Given the description of an element on the screen output the (x, y) to click on. 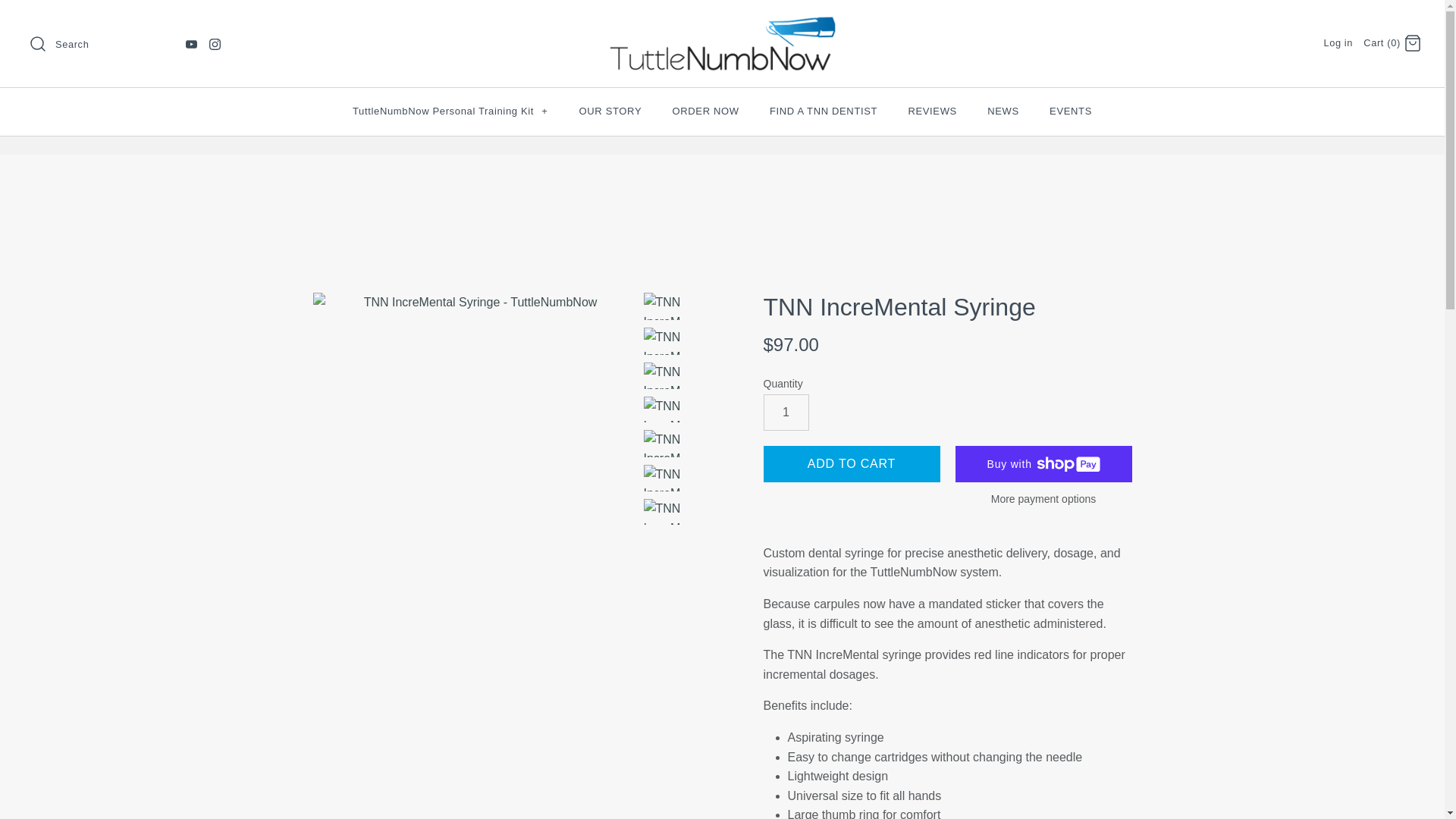
TNN IncreMental Syringe - TuttleNumbNow (662, 340)
TNN IncreMental Syringe - TuttleNumbNow (662, 306)
REVIEWS (932, 111)
NEWS (1003, 111)
FIND A TNN DENTIST (823, 111)
TNN IncreMental Syringe - TuttleNumbNow (473, 407)
EVENTS (1070, 111)
ORDER NOW (705, 111)
TNN IncreMental Syringe - TuttleNumbNow (662, 375)
Instagram (215, 43)
OUR STORY (611, 111)
TNN IncreMental Syringe - TuttleNumbNow (662, 443)
Add to Cart (850, 463)
Instagram (215, 43)
1 (785, 411)
